Given the description of an element on the screen output the (x, y) to click on. 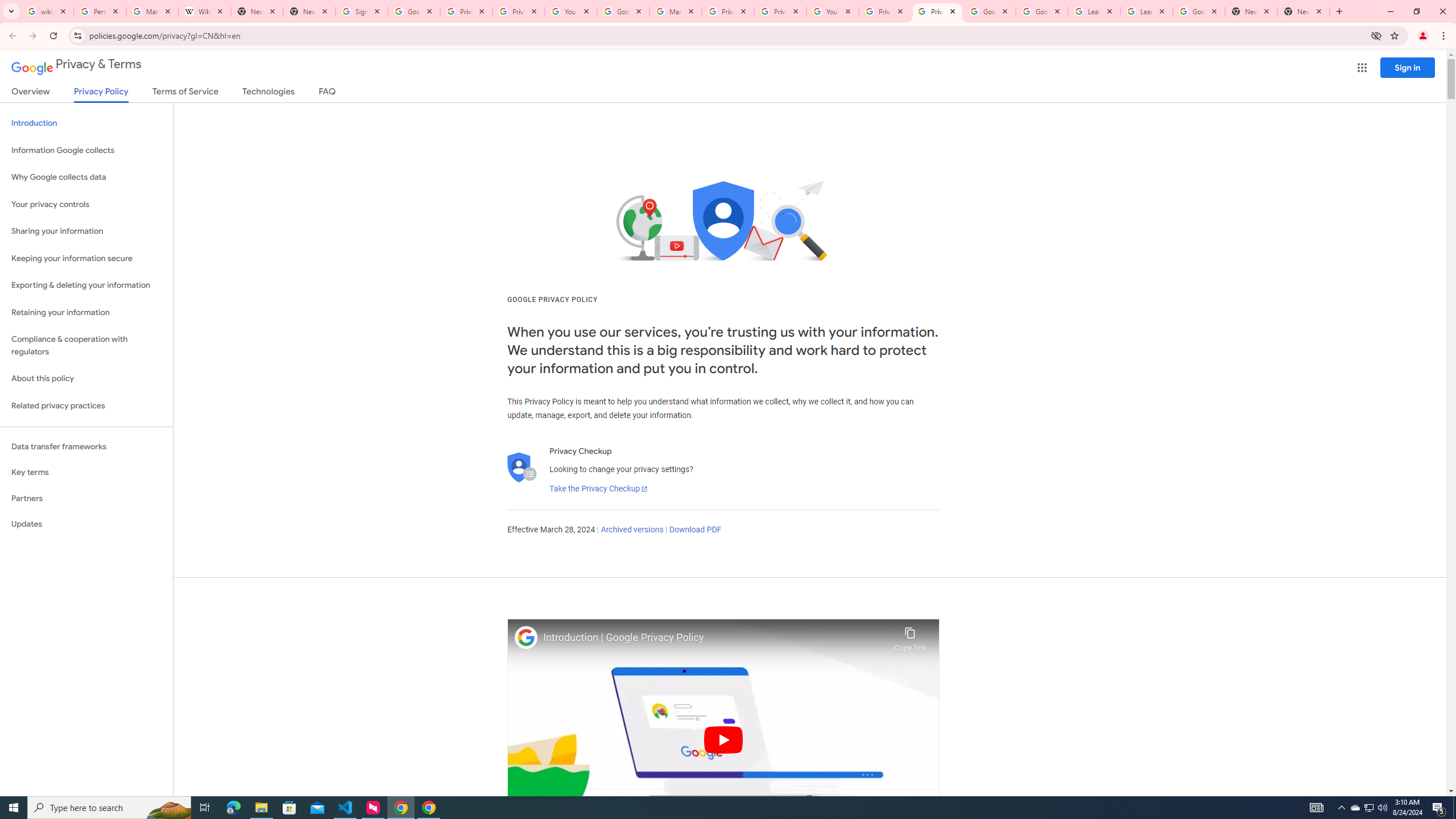
New Tab (1251, 11)
